Given the description of an element on the screen output the (x, y) to click on. 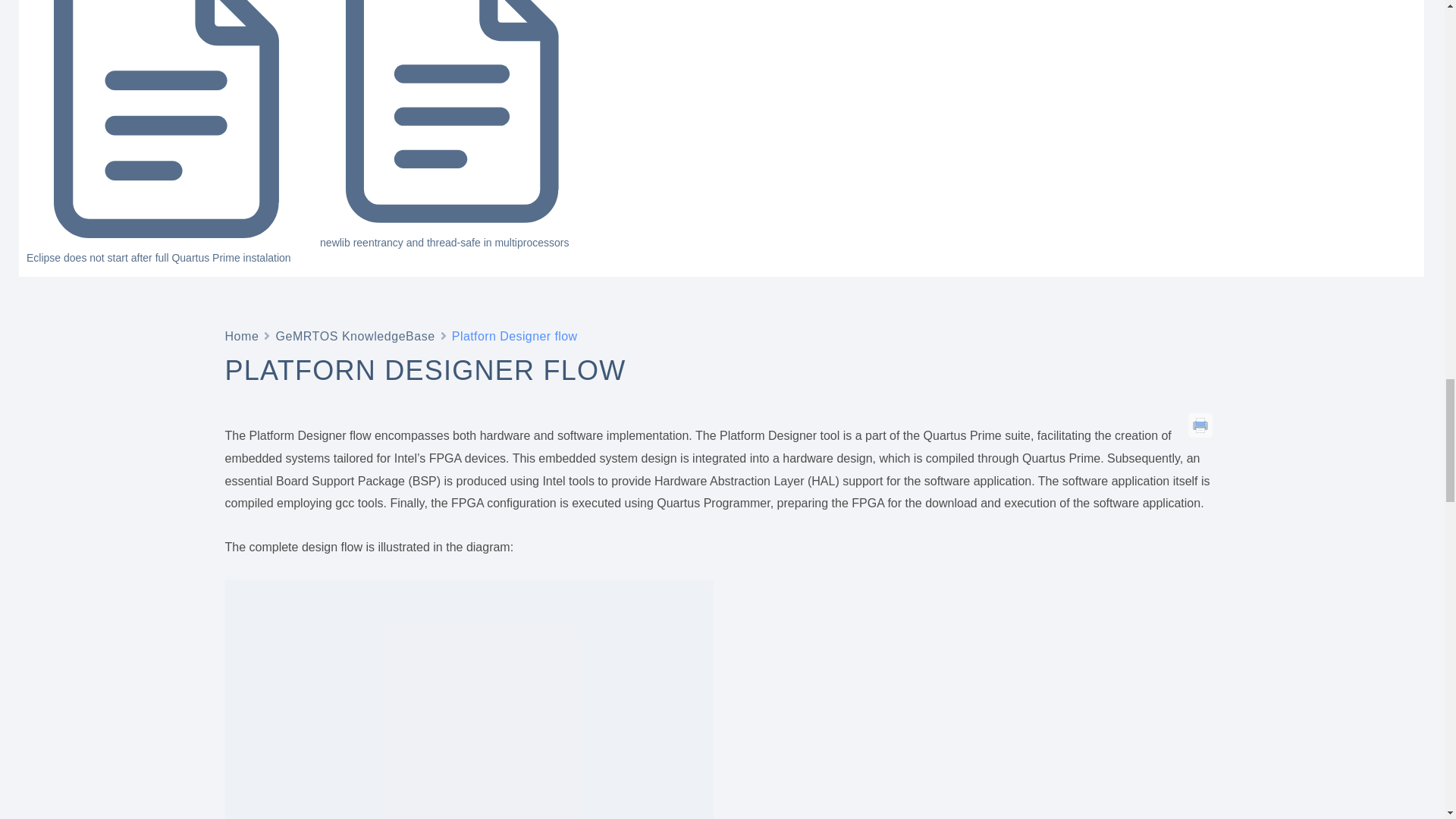
Home (241, 335)
GeMRTOS KnowledgeBase (354, 335)
